Given the description of an element on the screen output the (x, y) to click on. 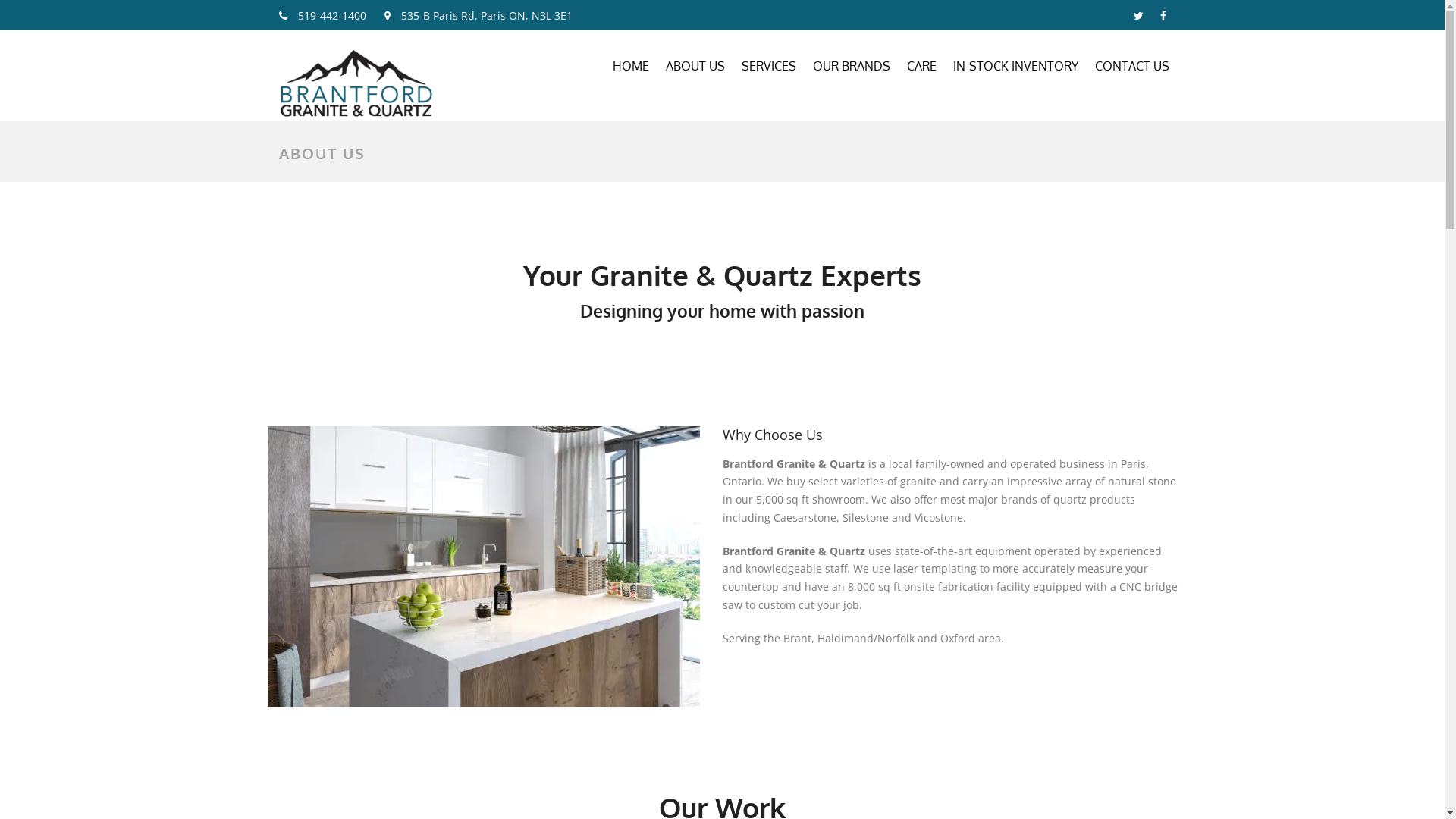
APP.BQ8628.004 Element type: hover (482, 566)
CARE Element type: text (920, 69)
OUR BRANDS Element type: text (850, 69)
CONTACT US Element type: text (1130, 69)
Brantford Granite & Quartz Element type: hover (356, 82)
SERVICES Element type: text (767, 69)
ABOUT US Element type: text (694, 69)
IN-STOCK INVENTORY Element type: text (1015, 69)
HOME Element type: text (629, 69)
